Given the description of an element on the screen output the (x, y) to click on. 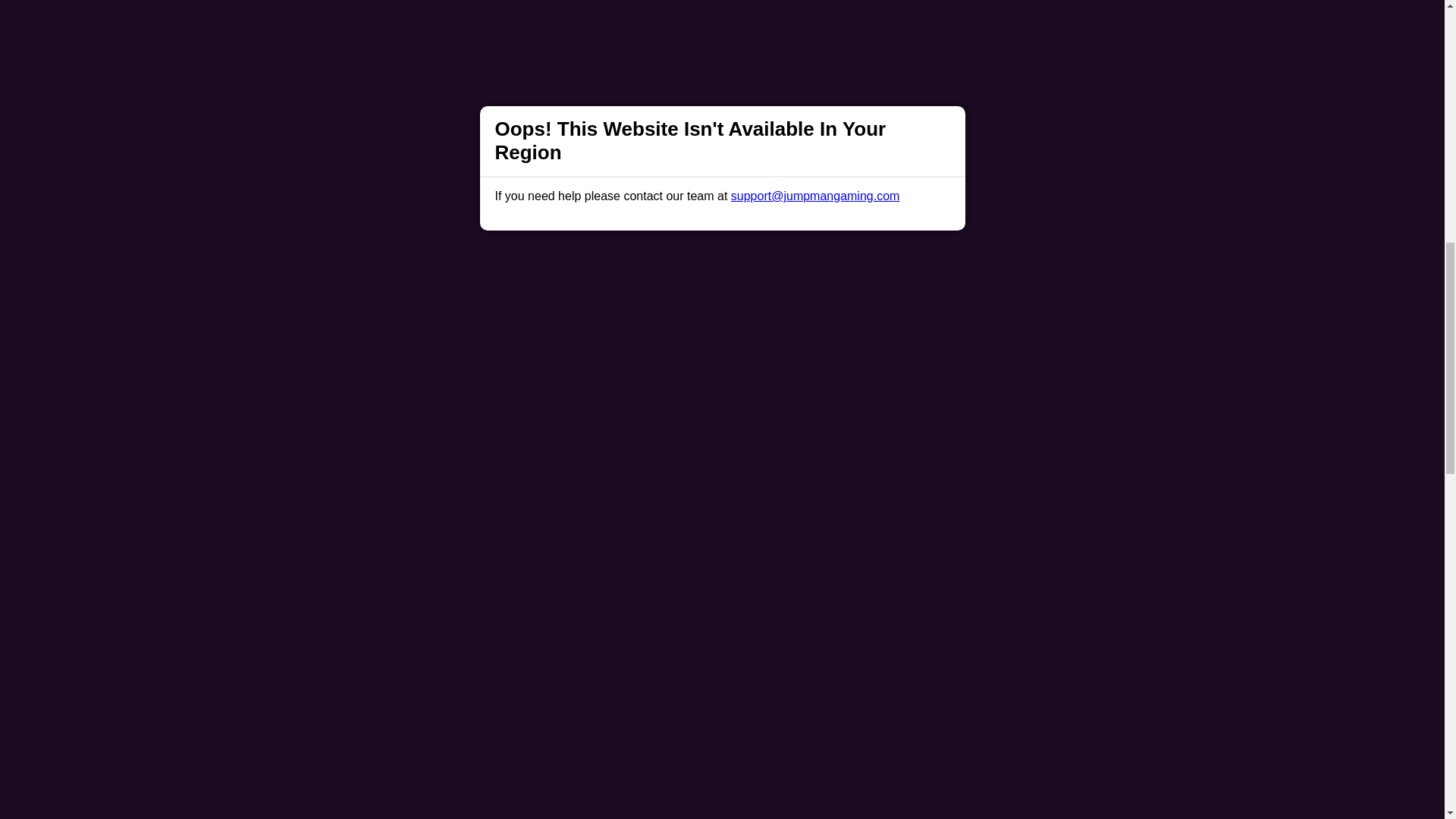
Cops and Robbers (438, 98)
new pay mobile slots (996, 723)
video slot (905, 6)
Rainbow Riches slot (442, 139)
play online slots (754, 59)
